Given the description of an element on the screen output the (x, y) to click on. 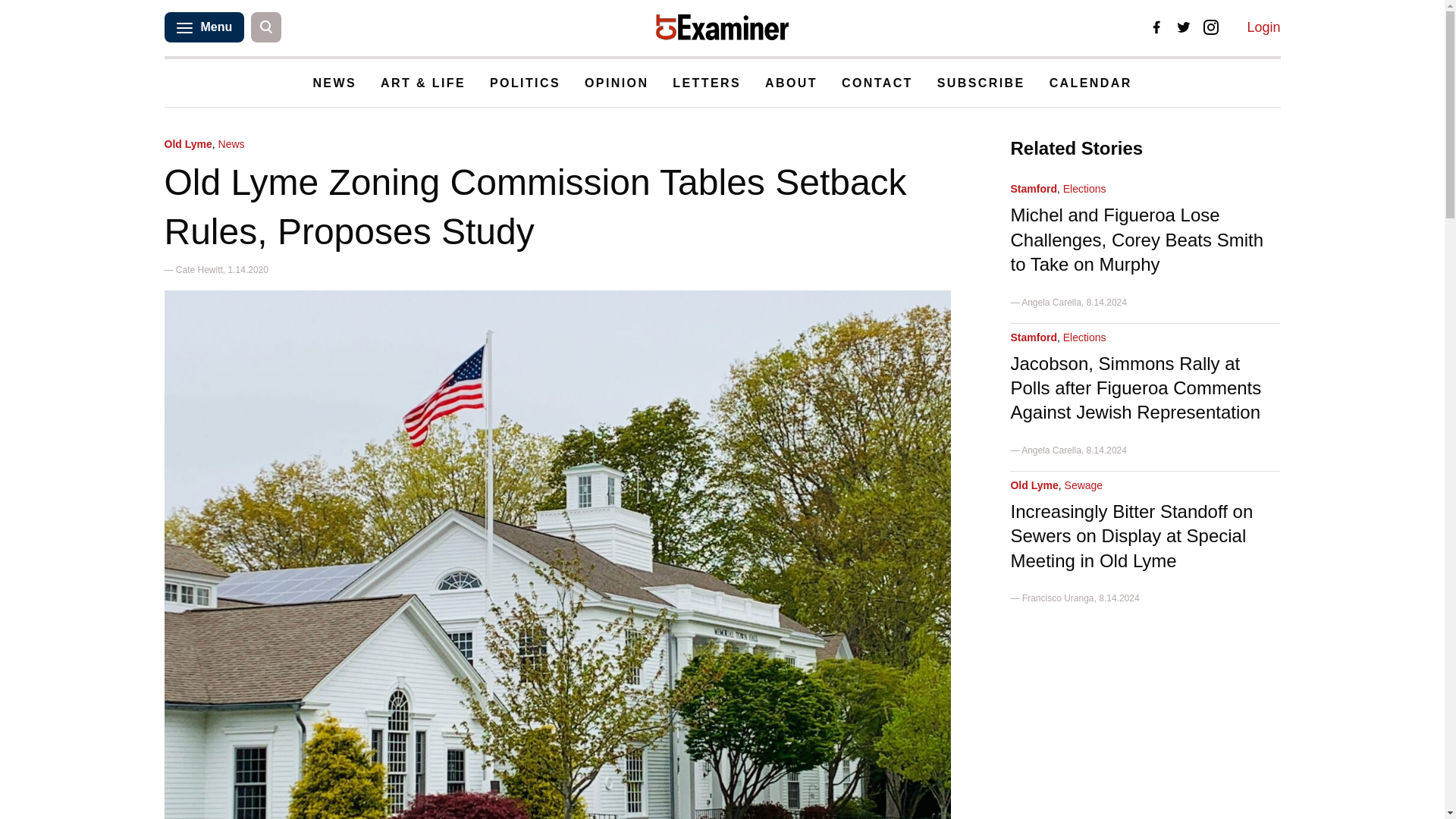
Menu (203, 27)
News (231, 143)
facebook (1155, 27)
CT Examiner (722, 27)
LETTERS (706, 82)
CONTACT (876, 82)
CALENDAR (1090, 82)
twitter (1183, 27)
Old Lyme (187, 143)
SUBSCRIBE (981, 82)
